Given the description of an element on the screen output the (x, y) to click on. 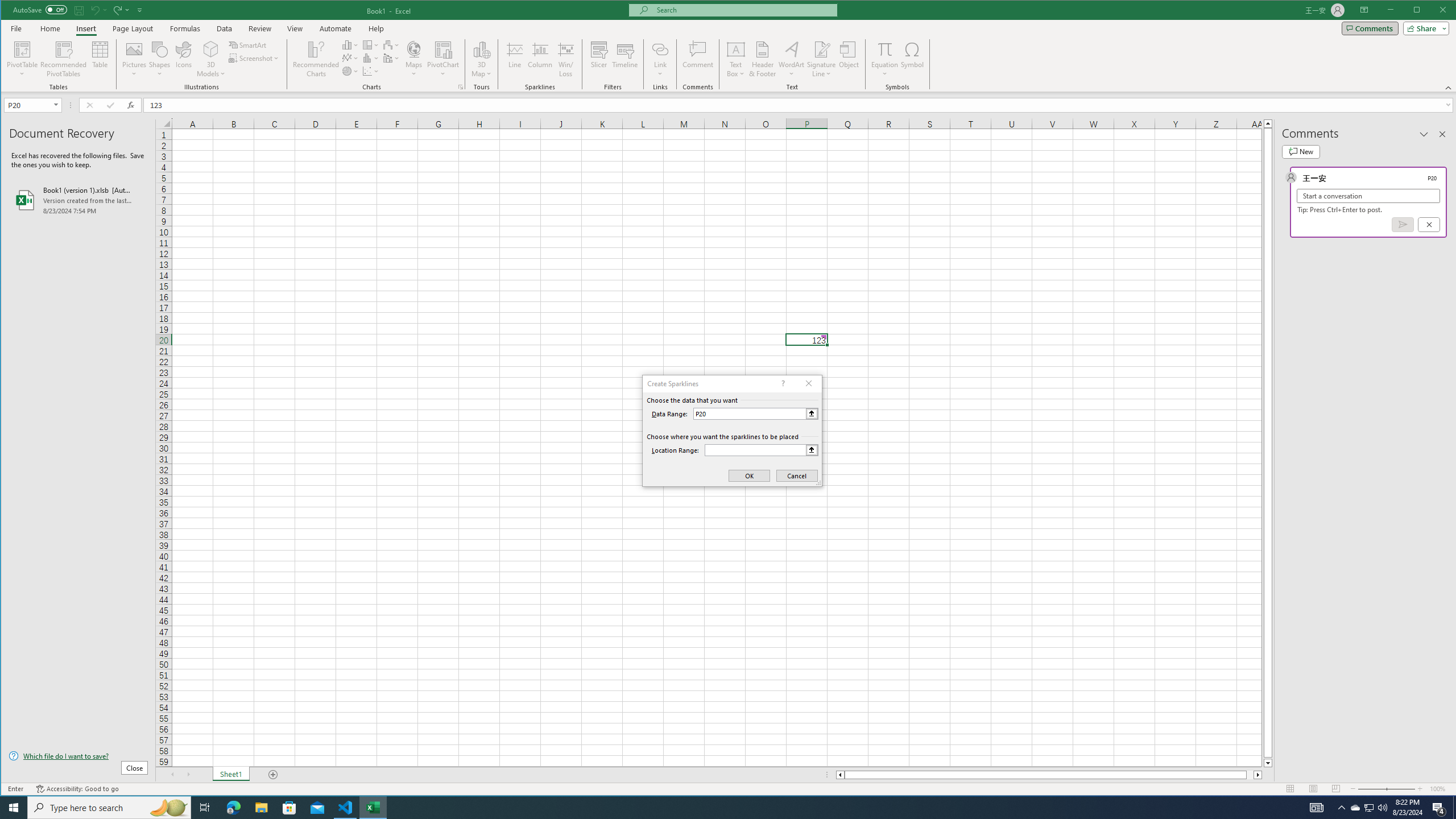
Link (659, 59)
PivotTable (22, 48)
Link (659, 48)
New comment (1300, 151)
Timeline (625, 59)
PivotTable (22, 59)
